Given the description of an element on the screen output the (x, y) to click on. 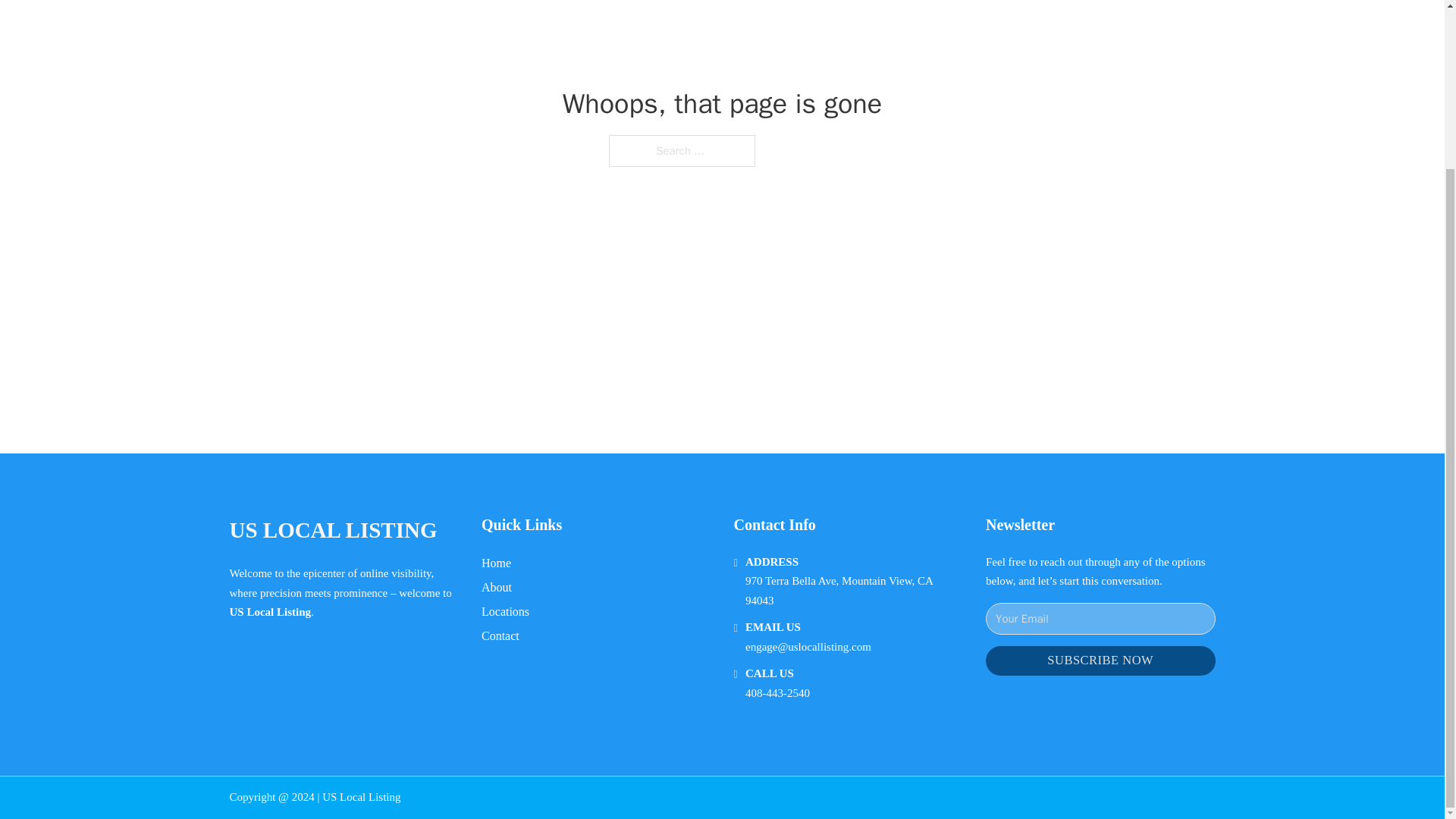
408-443-2540 (777, 693)
Home (496, 562)
About (496, 587)
US LOCAL LISTING (332, 529)
Contact (500, 635)
Locations (505, 611)
SUBSCRIBE NOW (1100, 660)
